Given the description of an element on the screen output the (x, y) to click on. 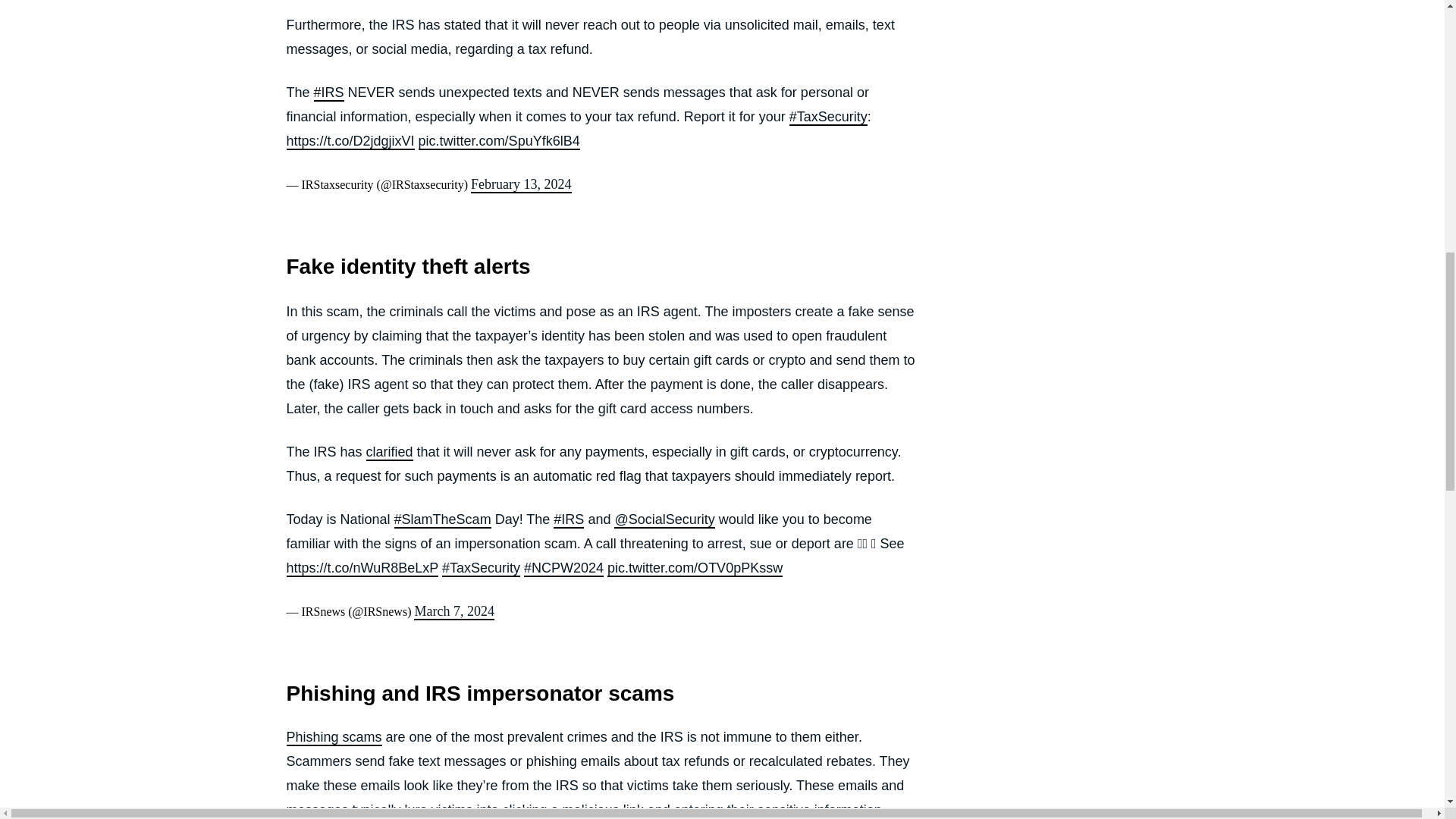
March 7, 2024 (453, 611)
clarified (389, 452)
Phishing scams (333, 737)
February 13, 2024 (520, 184)
